Given the description of an element on the screen output the (x, y) to click on. 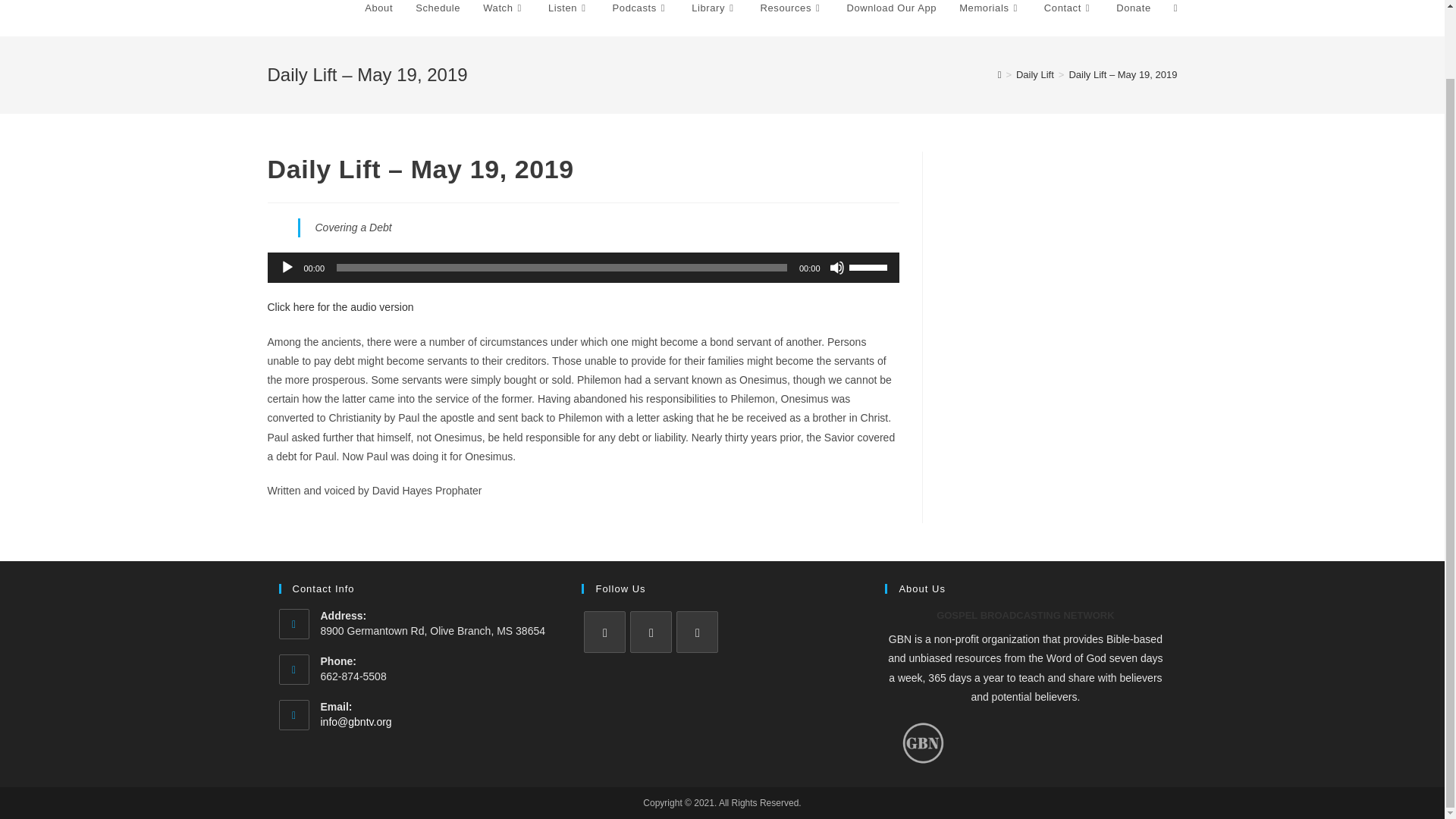
Listen (569, 18)
Play (286, 267)
Library (713, 18)
Watch (504, 18)
About (378, 18)
Podcasts (641, 18)
Schedule (437, 18)
Mute (836, 267)
